Given the description of an element on the screen output the (x, y) to click on. 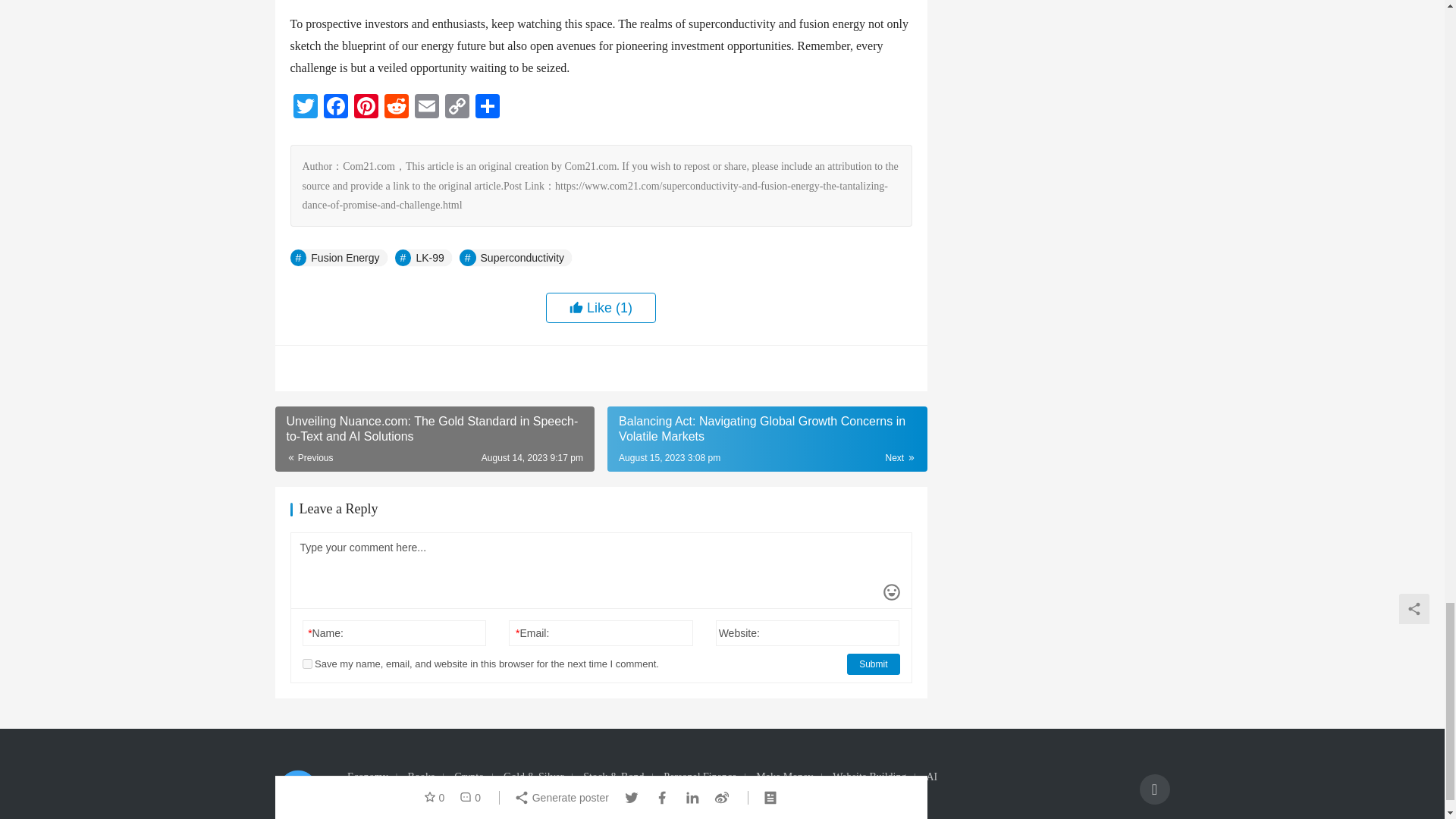
Copy Link (456, 108)
Facebook (335, 108)
Reddit (395, 108)
Facebook (335, 108)
Twitter (304, 108)
Email (425, 108)
Twitter (304, 108)
Pinterest (365, 108)
yes (306, 664)
Pinterest (365, 108)
